Given the description of an element on the screen output the (x, y) to click on. 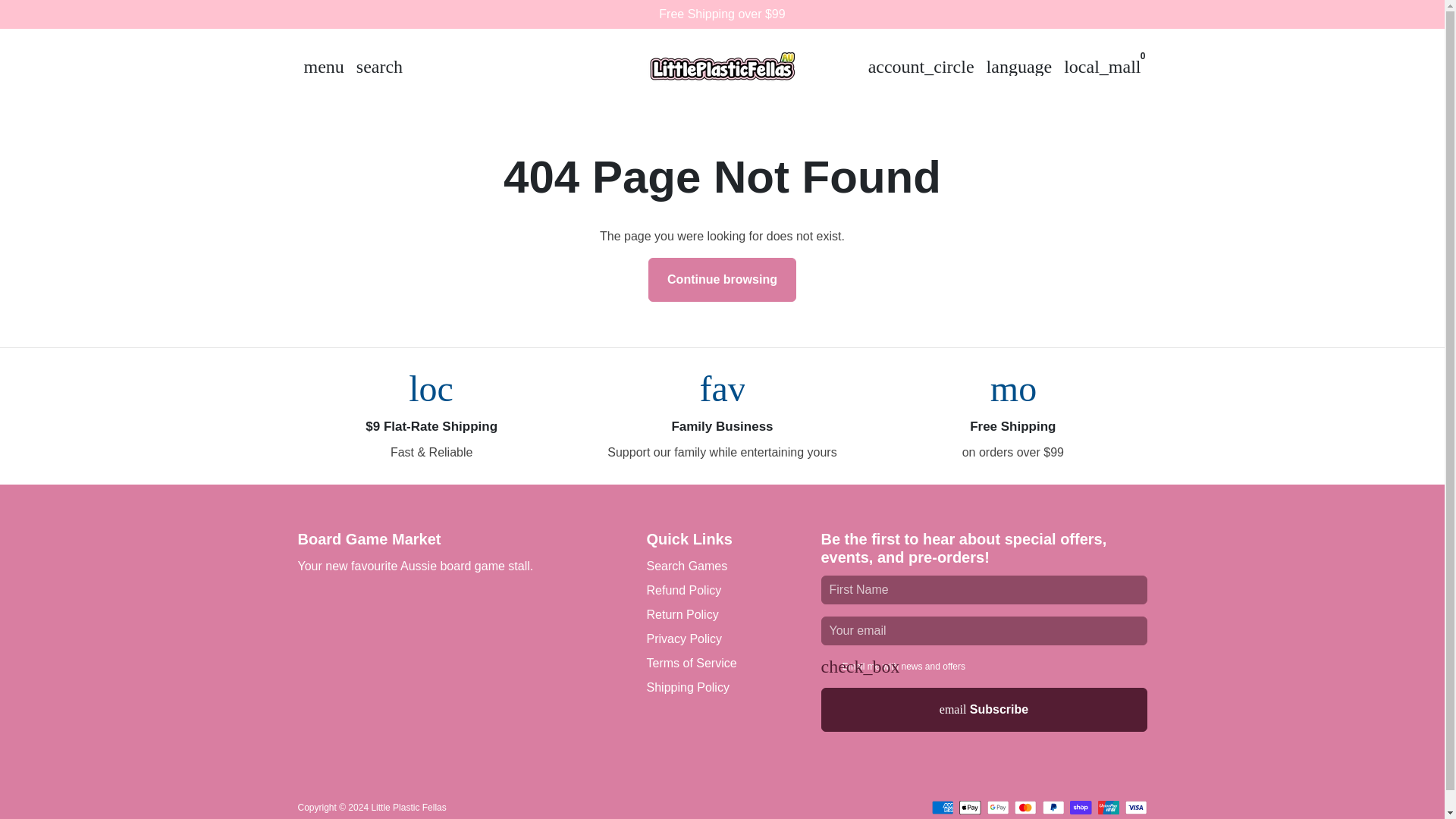
Google Pay (998, 807)
Mastercard (1025, 807)
Visa (1136, 807)
PayPal (1052, 807)
Search (379, 66)
search (379, 66)
Apple Pay (970, 807)
Menu (323, 66)
menu (323, 66)
American Express (941, 807)
